Given the description of an element on the screen output the (x, y) to click on. 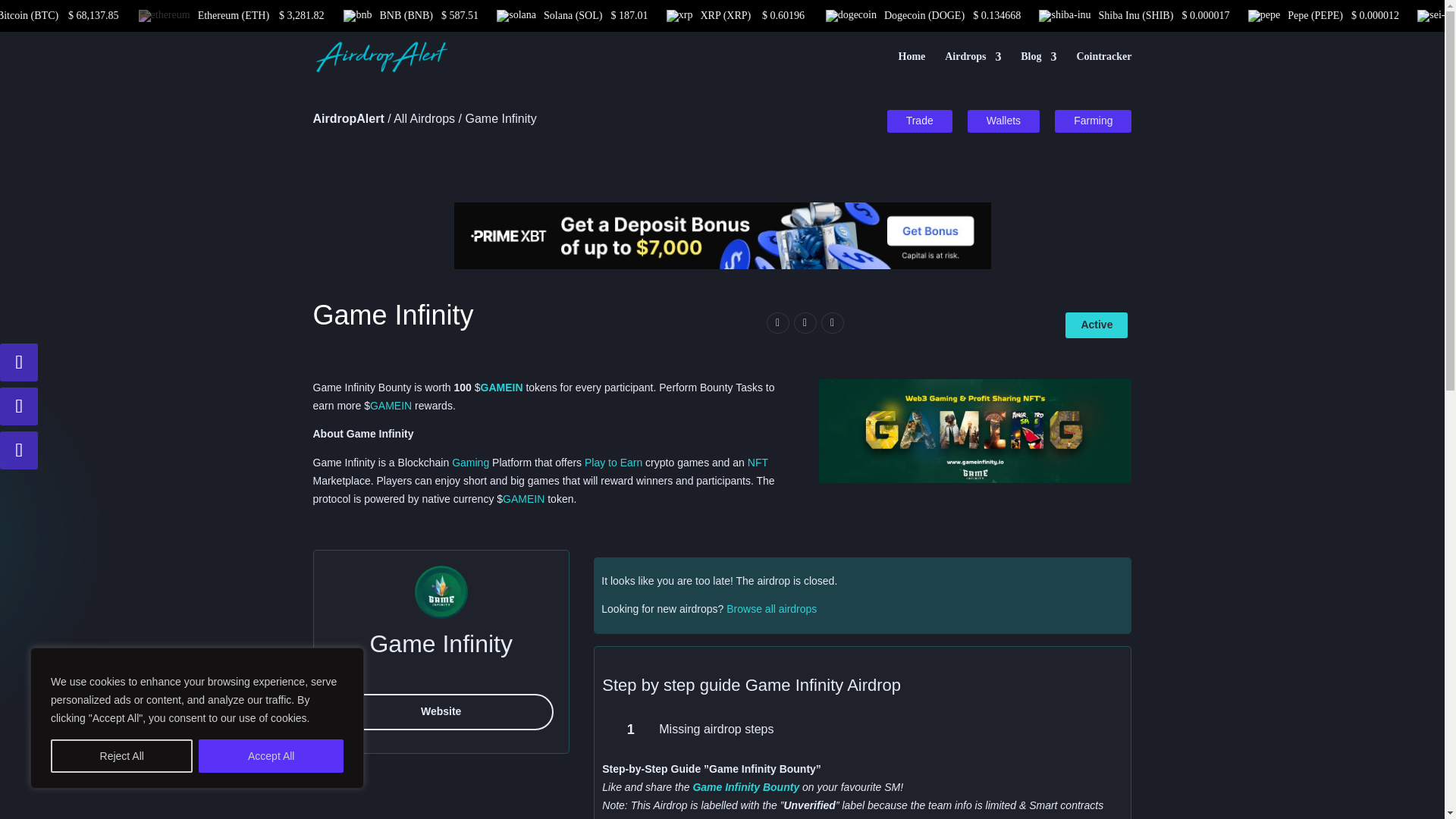
Follow on Facebook (18, 450)
Follow on X (18, 362)
Cointracker (1103, 68)
Blast-Mainnet5555 (975, 431)
Blog (1038, 68)
Accept All (270, 756)
Follow on Telegram (18, 406)
Reject All (121, 756)
Airdrops (972, 68)
